Given the description of an element on the screen output the (x, y) to click on. 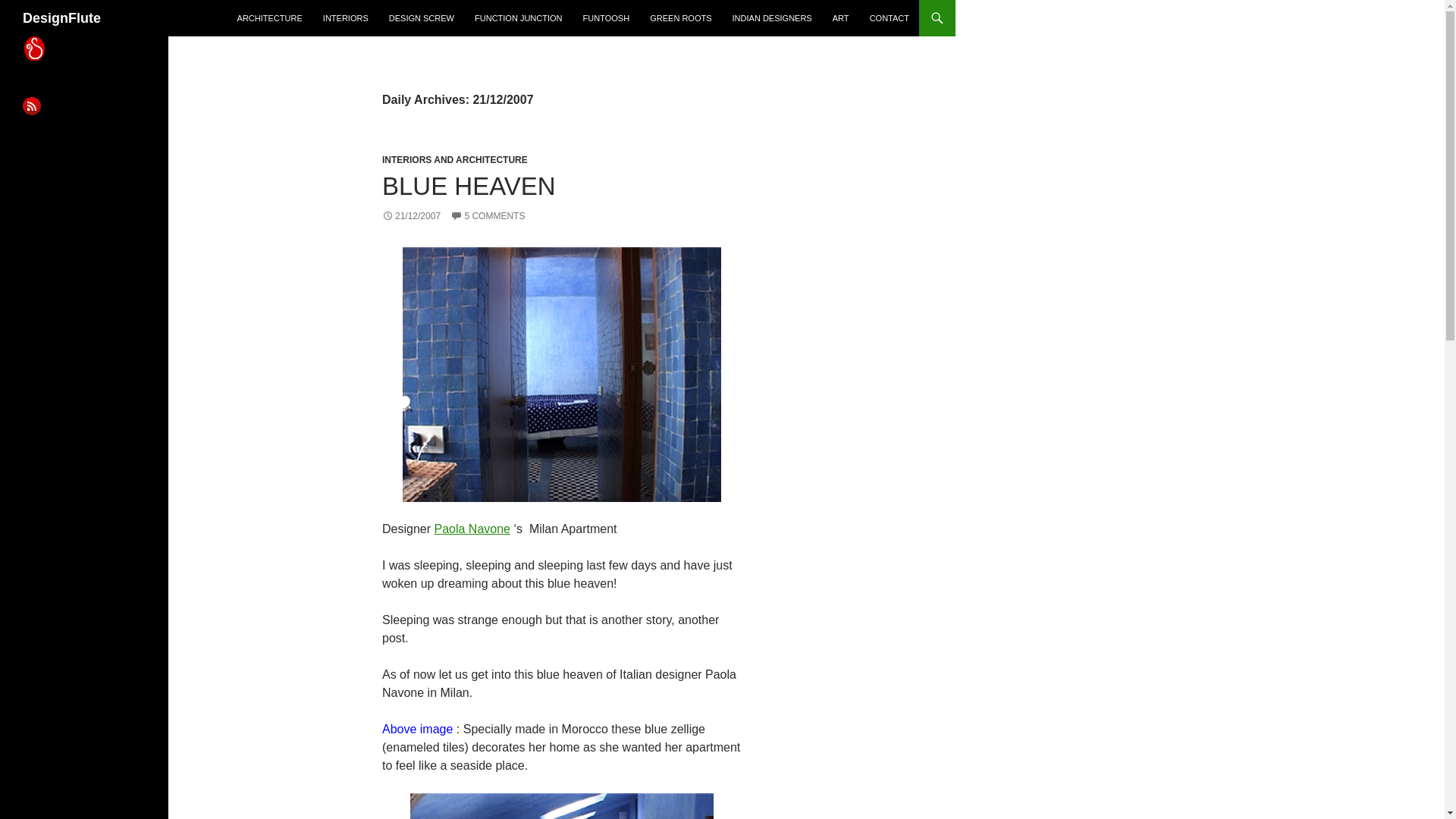
INTERIORS (345, 18)
DESIGN SCREW (421, 18)
ARCHITECTURE (269, 18)
ART (841, 18)
FUNTOOSH (606, 18)
GREEN ROOTS (680, 18)
INDIAN DESIGNERS (772, 18)
CONTACT (889, 18)
BLUE HEAVEN (468, 185)
FUNCTION JUNCTION (518, 18)
